Given the description of an element on the screen output the (x, y) to click on. 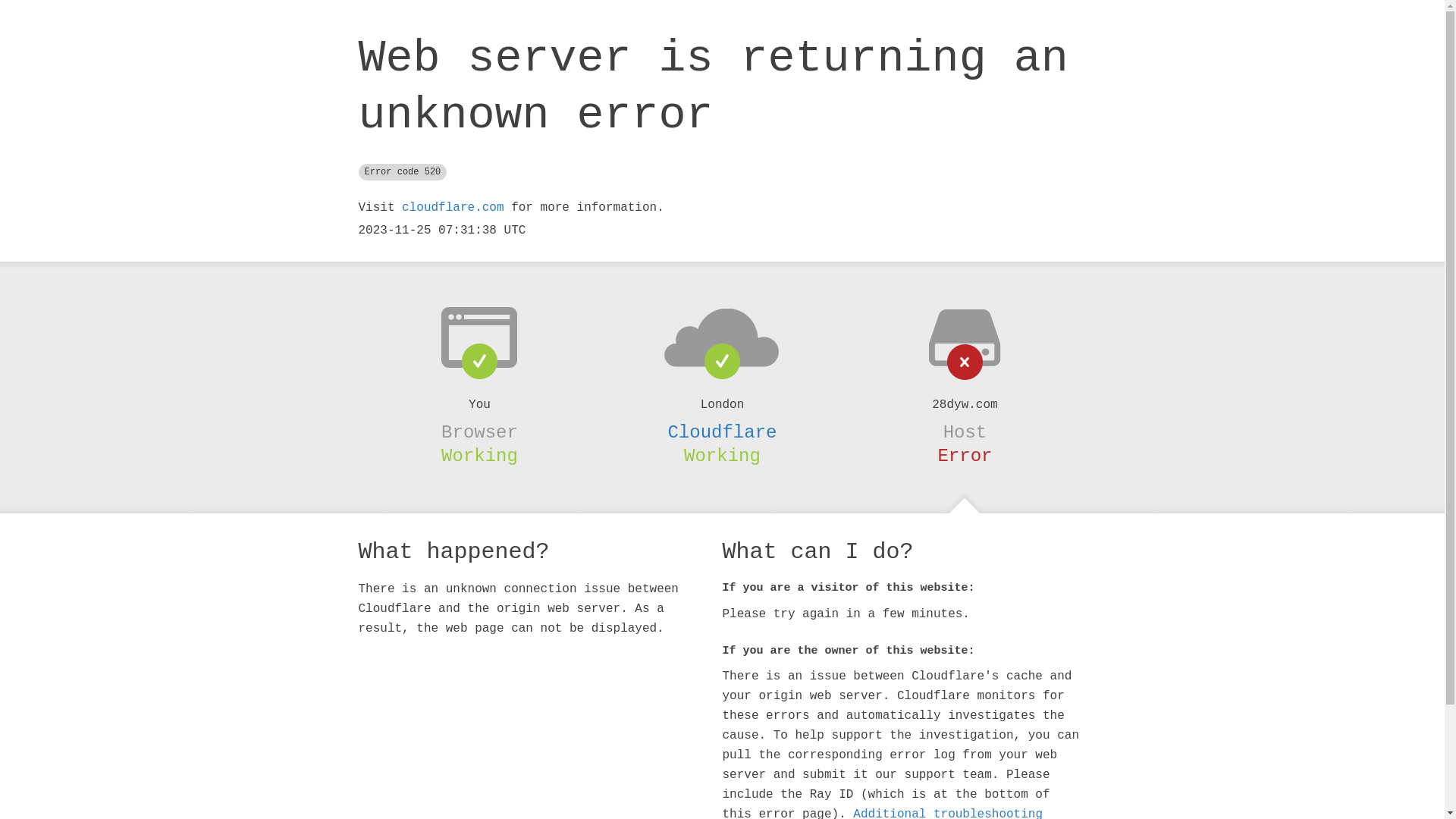
cloudflare.com Element type: text (452, 207)
Cloudflare Element type: text (721, 432)
